Given the description of an element on the screen output the (x, y) to click on. 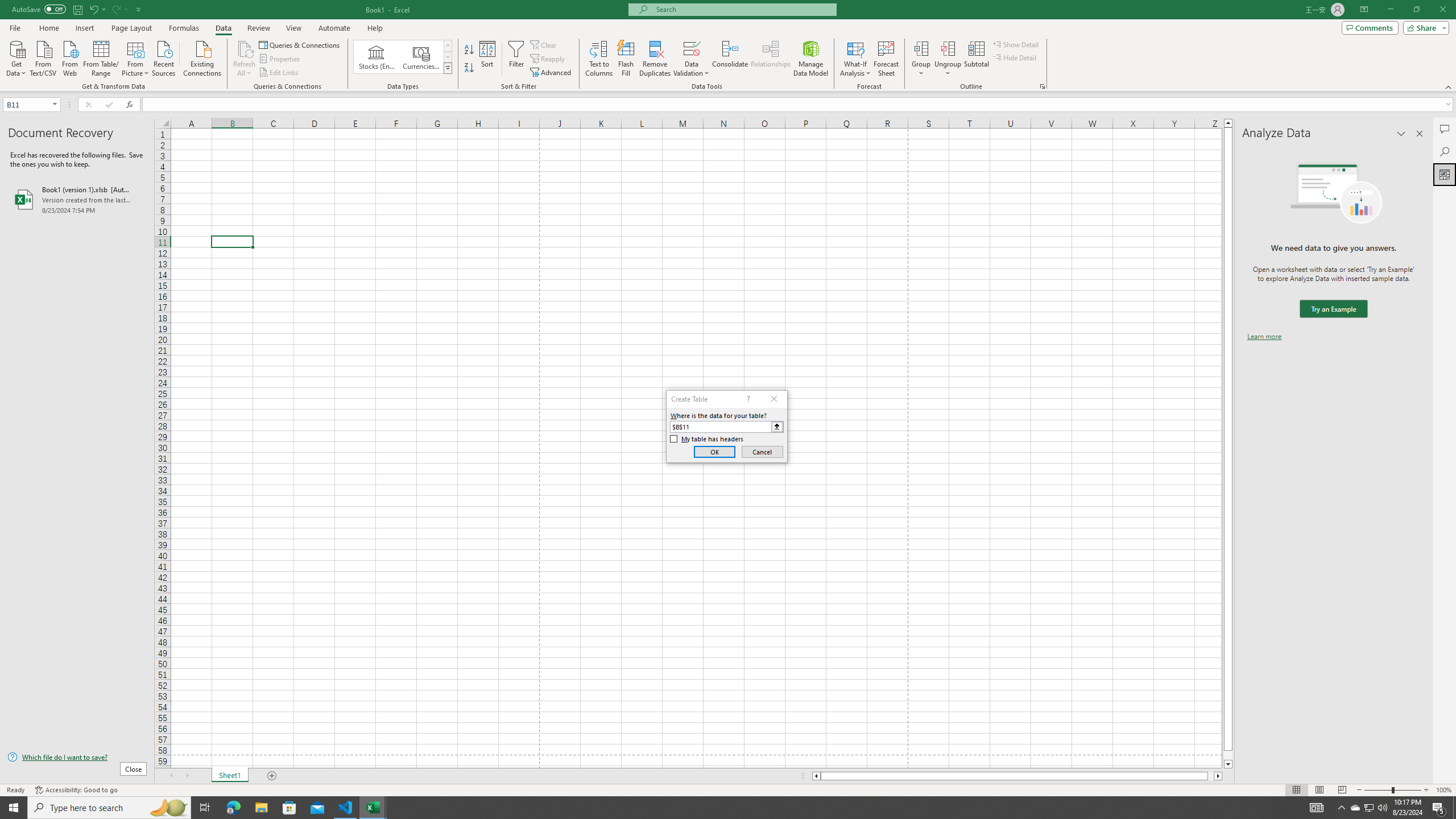
Edit Links (279, 72)
Class: NetUIImage (447, 68)
Sort A to Z (469, 49)
Row up (448, 45)
Analyze Data (1444, 173)
Flash Fill (625, 58)
Relationships (770, 58)
Recent Sources (163, 57)
